Given the description of an element on the screen output the (x, y) to click on. 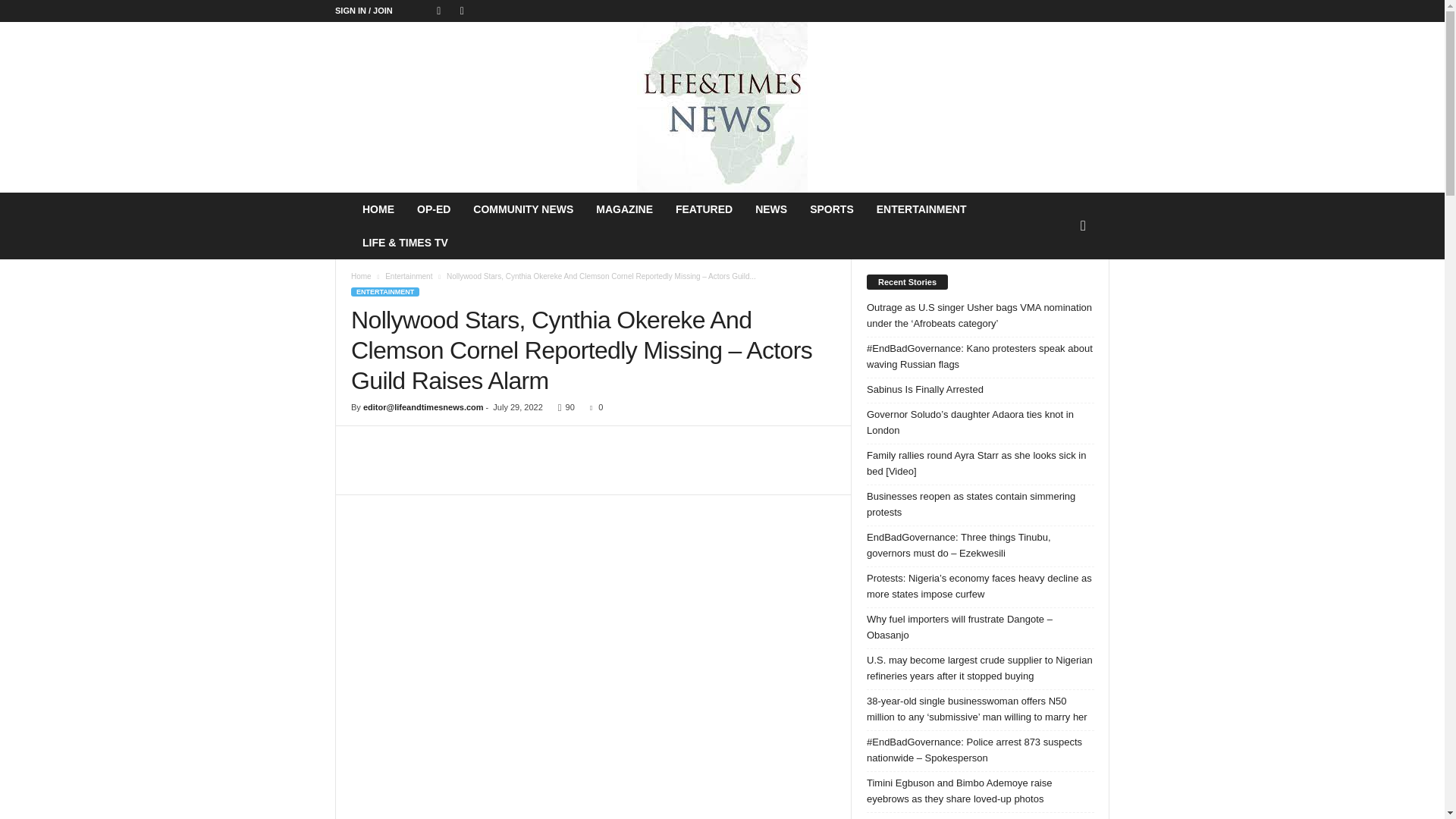
NEWS (770, 209)
SPORTS (830, 209)
FEATURED (703, 209)
ENTERTAINMENT (384, 291)
MAGAZINE (624, 209)
View all posts in Entertainment (408, 275)
HOME (378, 209)
OP-ED (433, 209)
0 (592, 406)
Entertainment (408, 275)
Home (360, 275)
ENTERTAINMENT (921, 209)
COMMUNITY NEWS (523, 209)
